Given the description of an element on the screen output the (x, y) to click on. 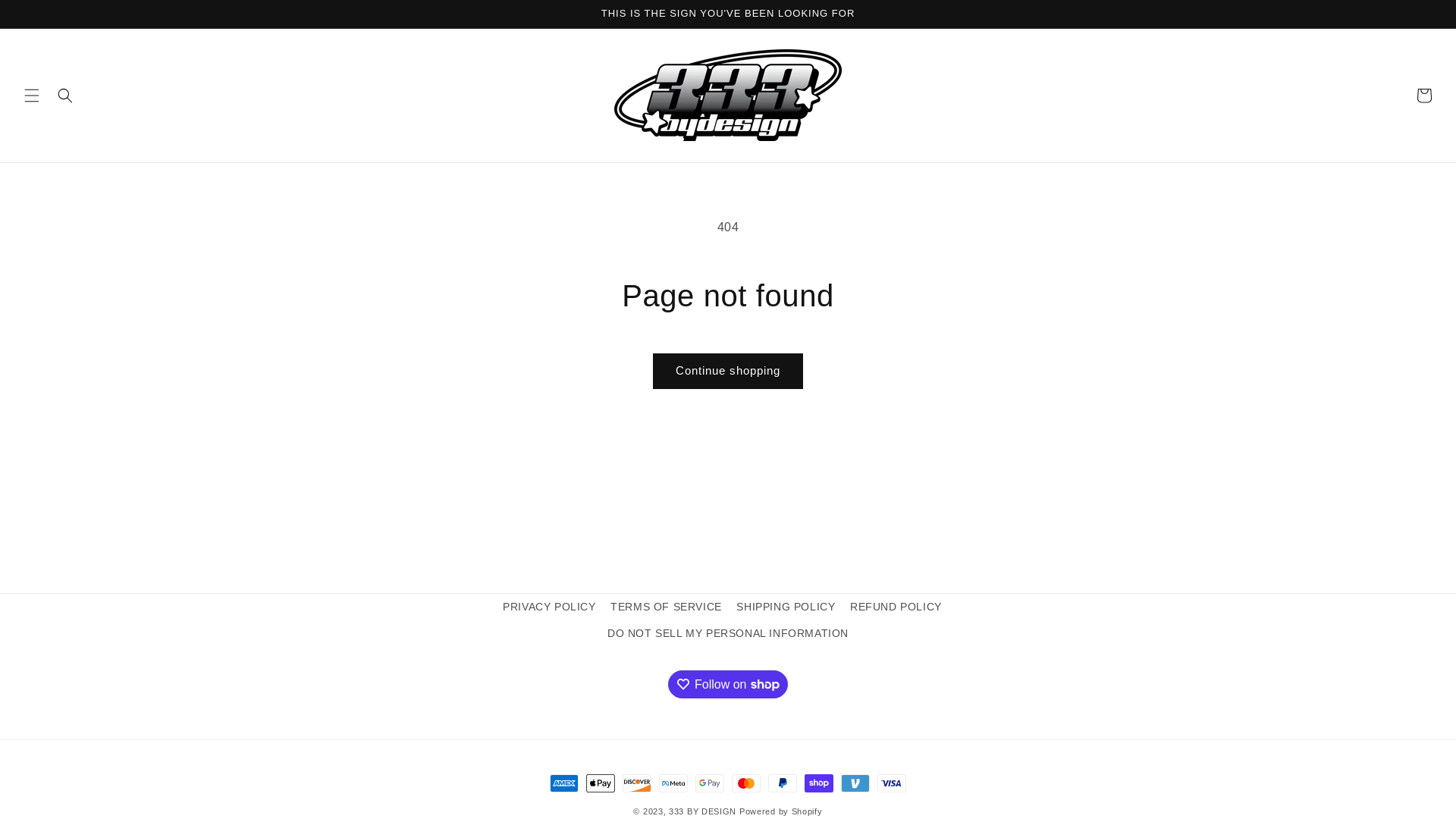
TERMS OF SERVICE Element type: text (665, 606)
PRIVACY POLICY Element type: text (548, 608)
SHIPPING POLICY Element type: text (785, 606)
Continue shopping Element type: text (727, 371)
REFUND POLICY Element type: text (895, 606)
DO NOT SELL MY PERSONAL INFORMATION Element type: text (727, 633)
333 BY DESIGN Element type: text (702, 811)
Cart Element type: text (1423, 95)
Powered by Shopify Element type: text (780, 811)
